Given the description of an element on the screen output the (x, y) to click on. 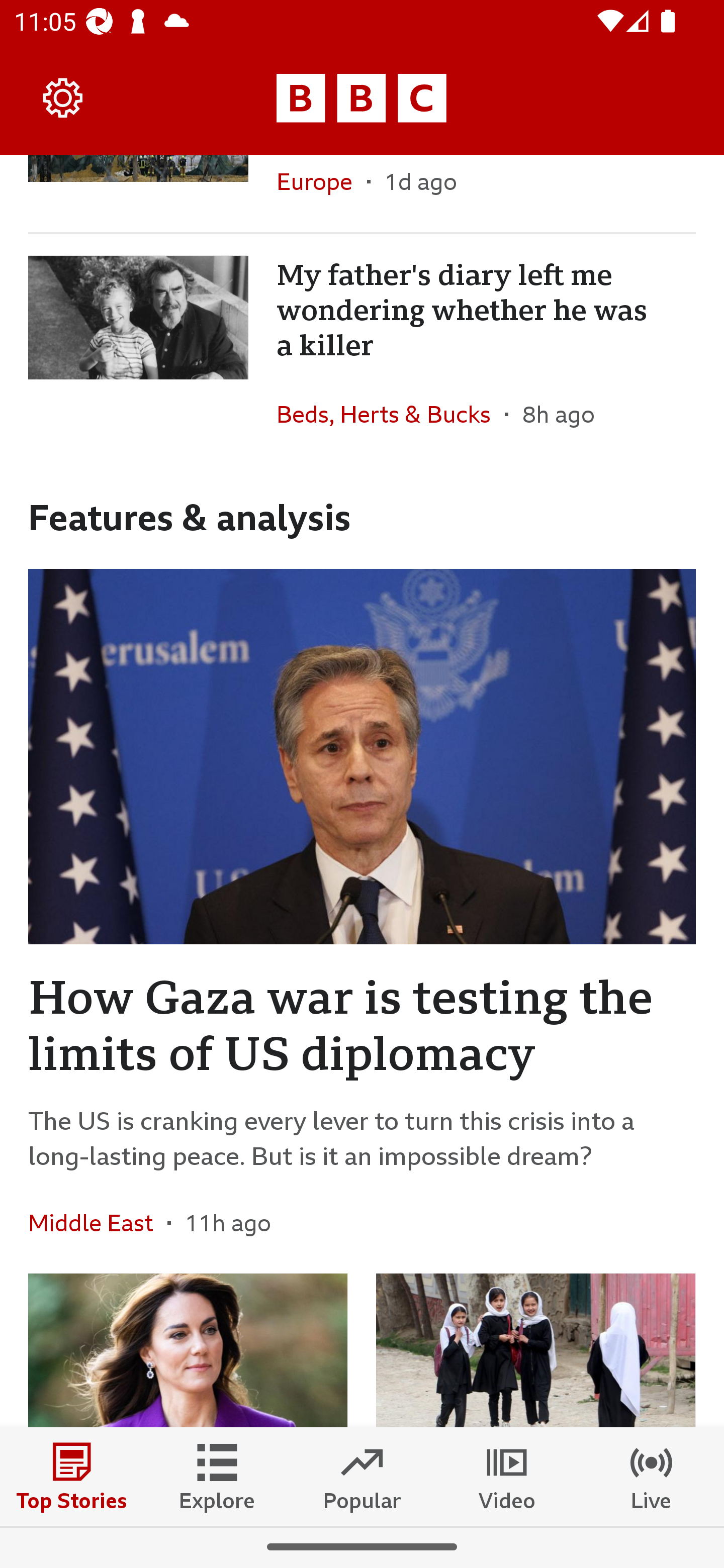
Settings (63, 97)
Europe In the section Europe 1d ago 1 Day ago (361, 193)
Europe In the section Europe (321, 193)
Middle East In the section Middle East (97, 1222)
Explore (216, 1475)
Popular (361, 1475)
Video (506, 1475)
Live (651, 1475)
